Given the description of an element on the screen output the (x, y) to click on. 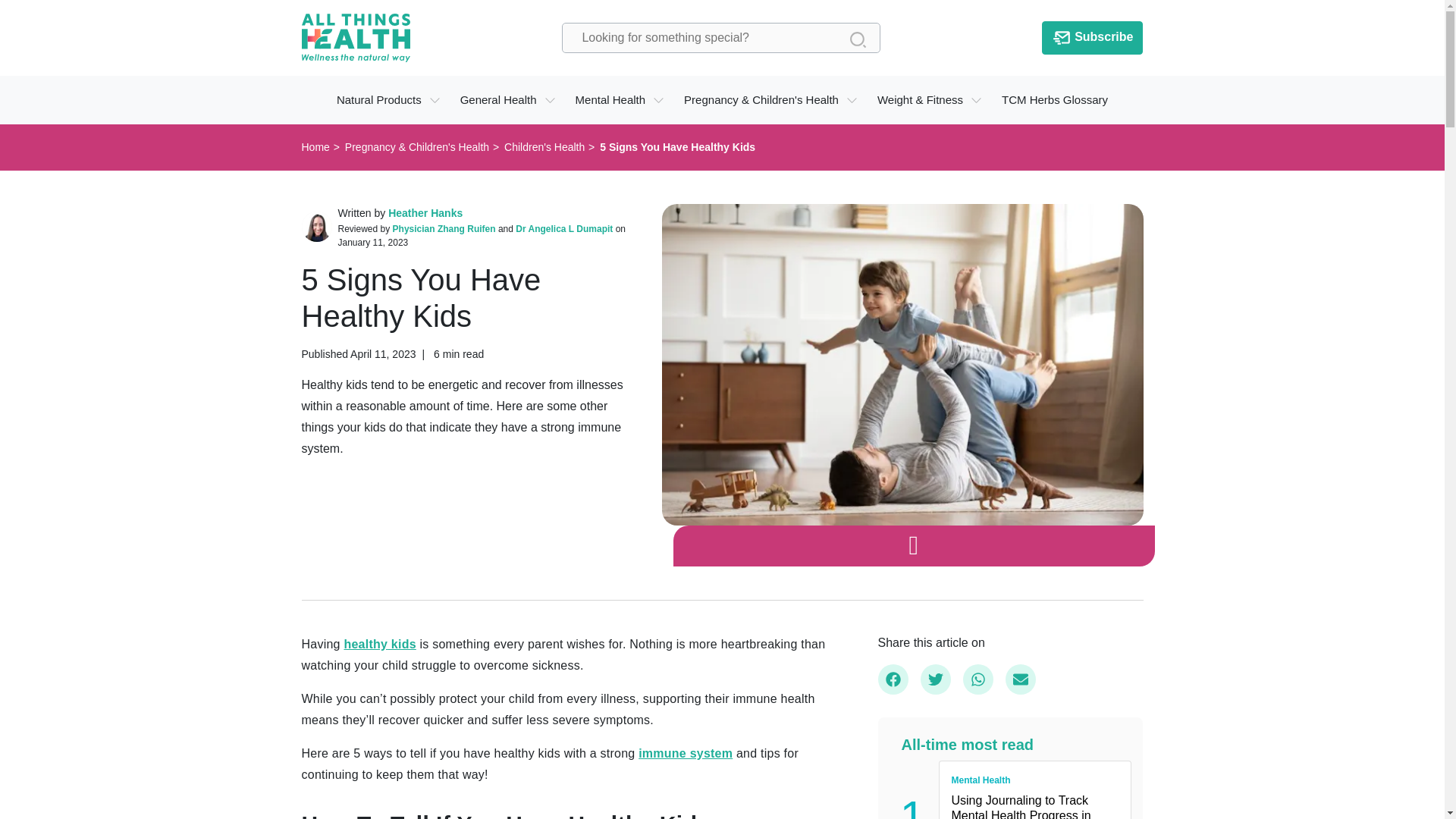
Subscribe (1092, 37)
Go to page content (23, 20)
Subscribe to our newsletter (1092, 37)
